Given the description of an element on the screen output the (x, y) to click on. 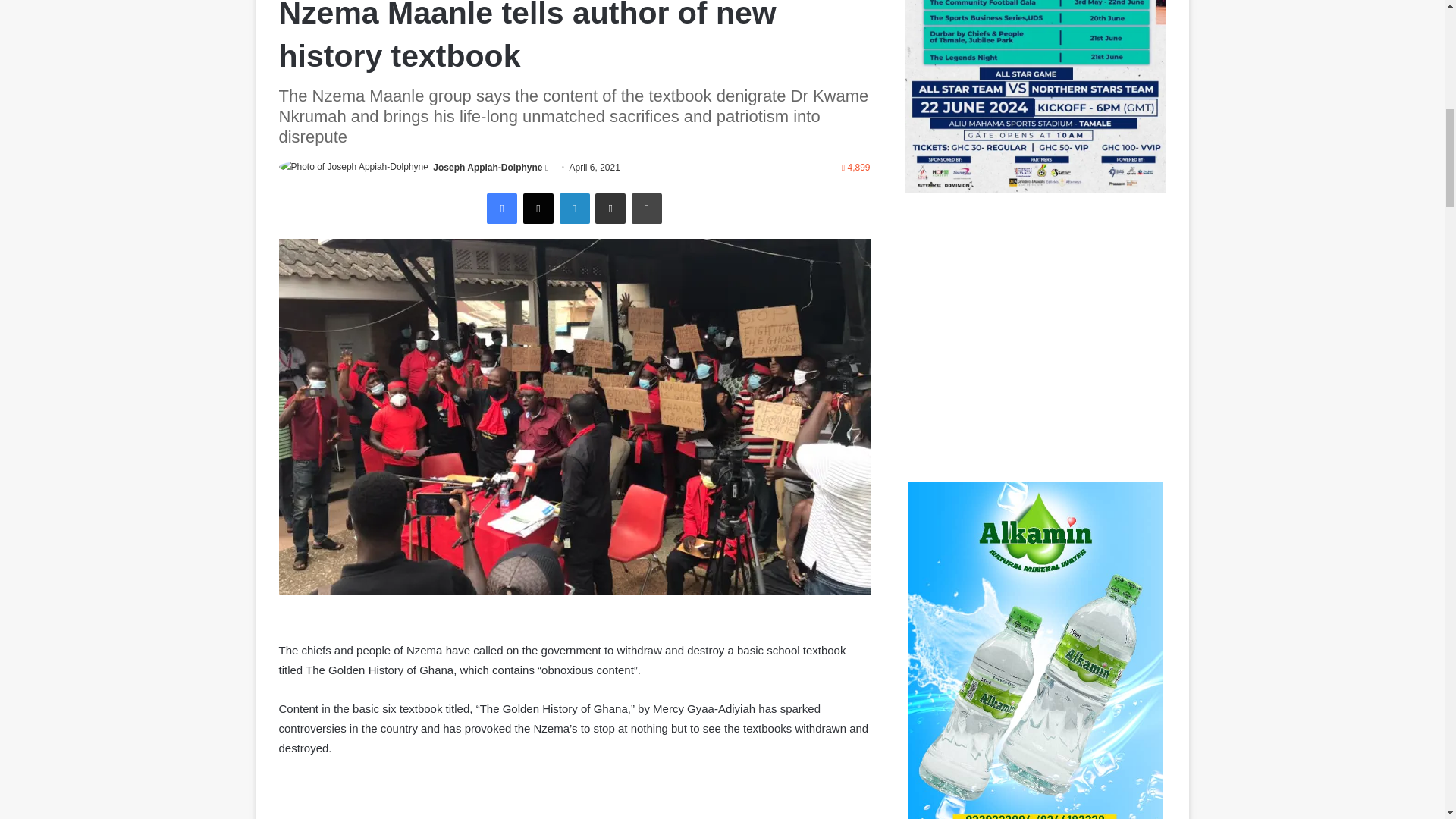
Share via Email (610, 208)
Facebook (501, 208)
LinkedIn (574, 208)
Joseph Appiah-Dolphyne (486, 167)
X (537, 208)
